Given the description of an element on the screen output the (x, y) to click on. 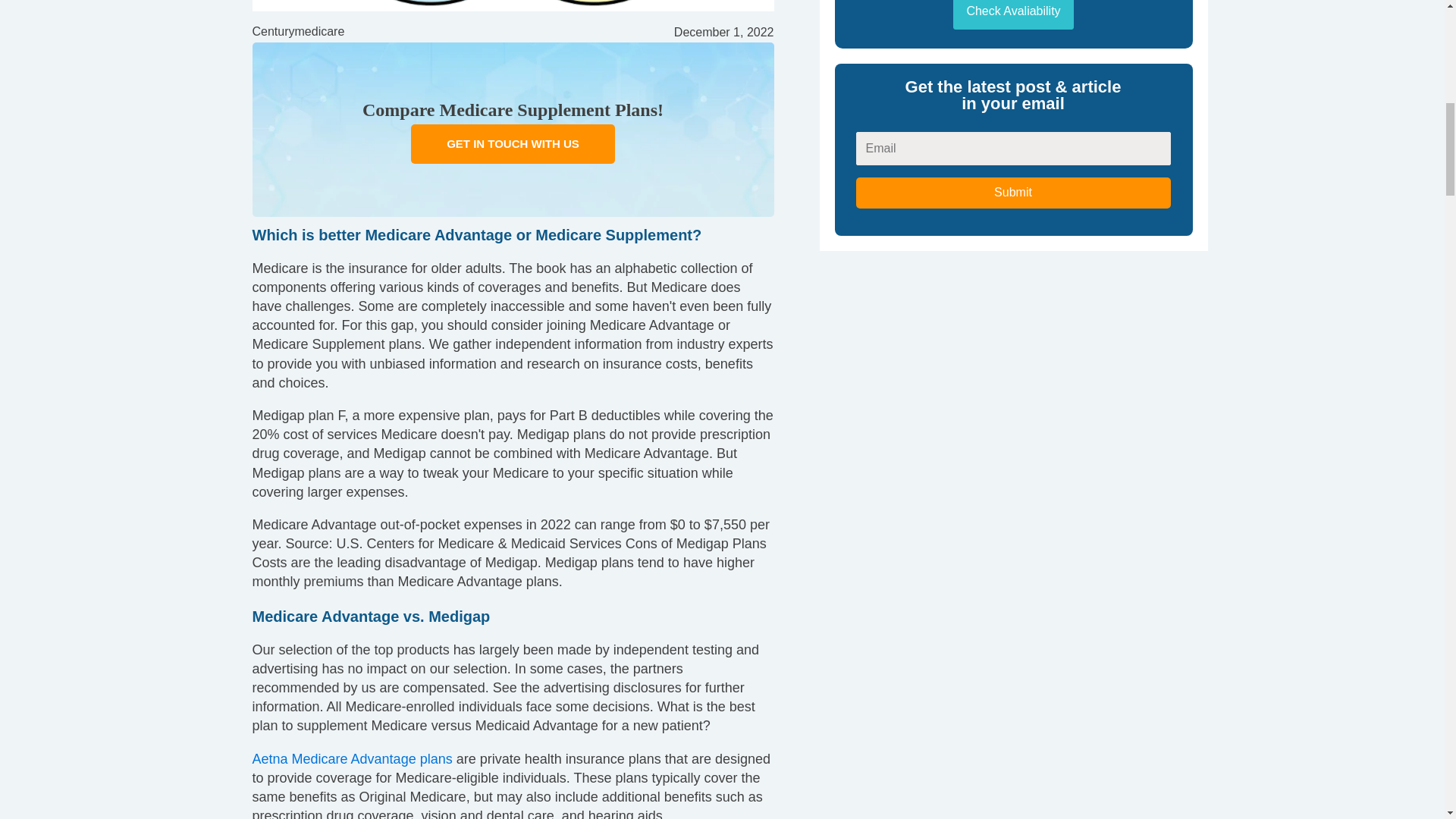
Submit (1013, 192)
Check Avaliability (1013, 14)
GET IN TOUCH WITH US (512, 143)
Aetna Medicare Advantage plans (351, 758)
GET IN TOUCH WITH US (512, 143)
